Given the description of an element on the screen output the (x, y) to click on. 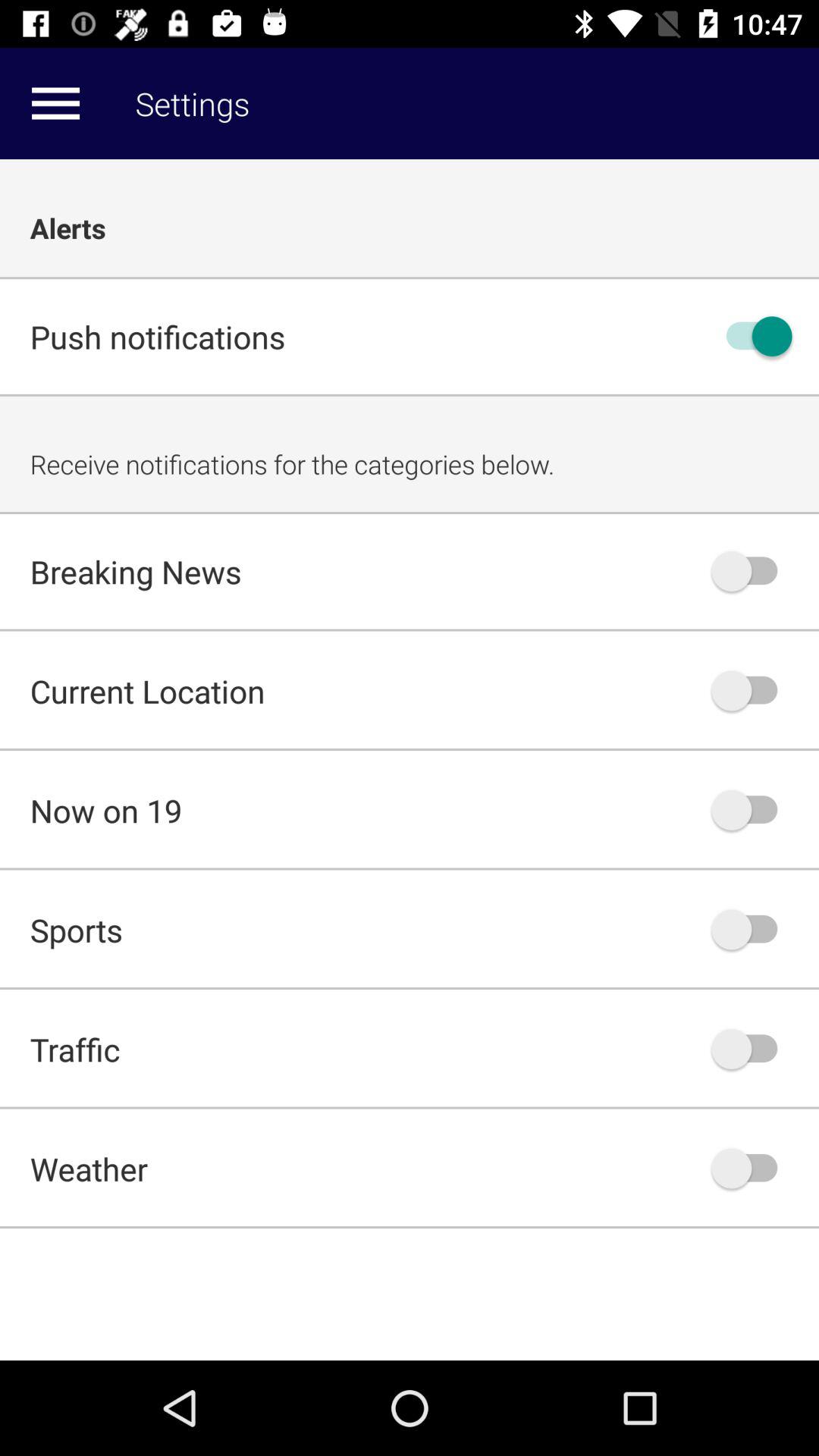
toggle traffic notifications (751, 1049)
